Given the description of an element on the screen output the (x, y) to click on. 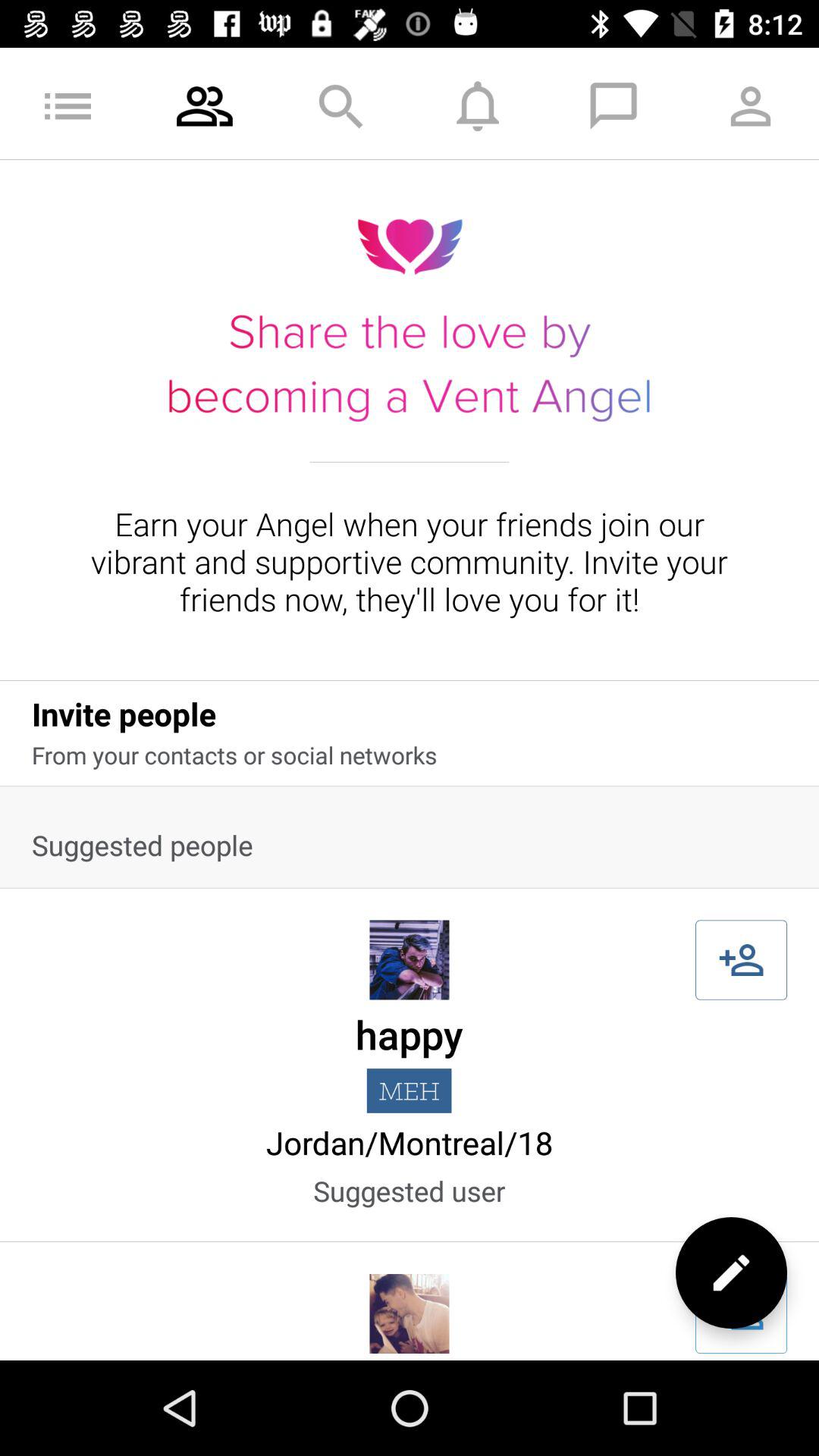
add suggested user (741, 1313)
